Given the description of an element on the screen output the (x, y) to click on. 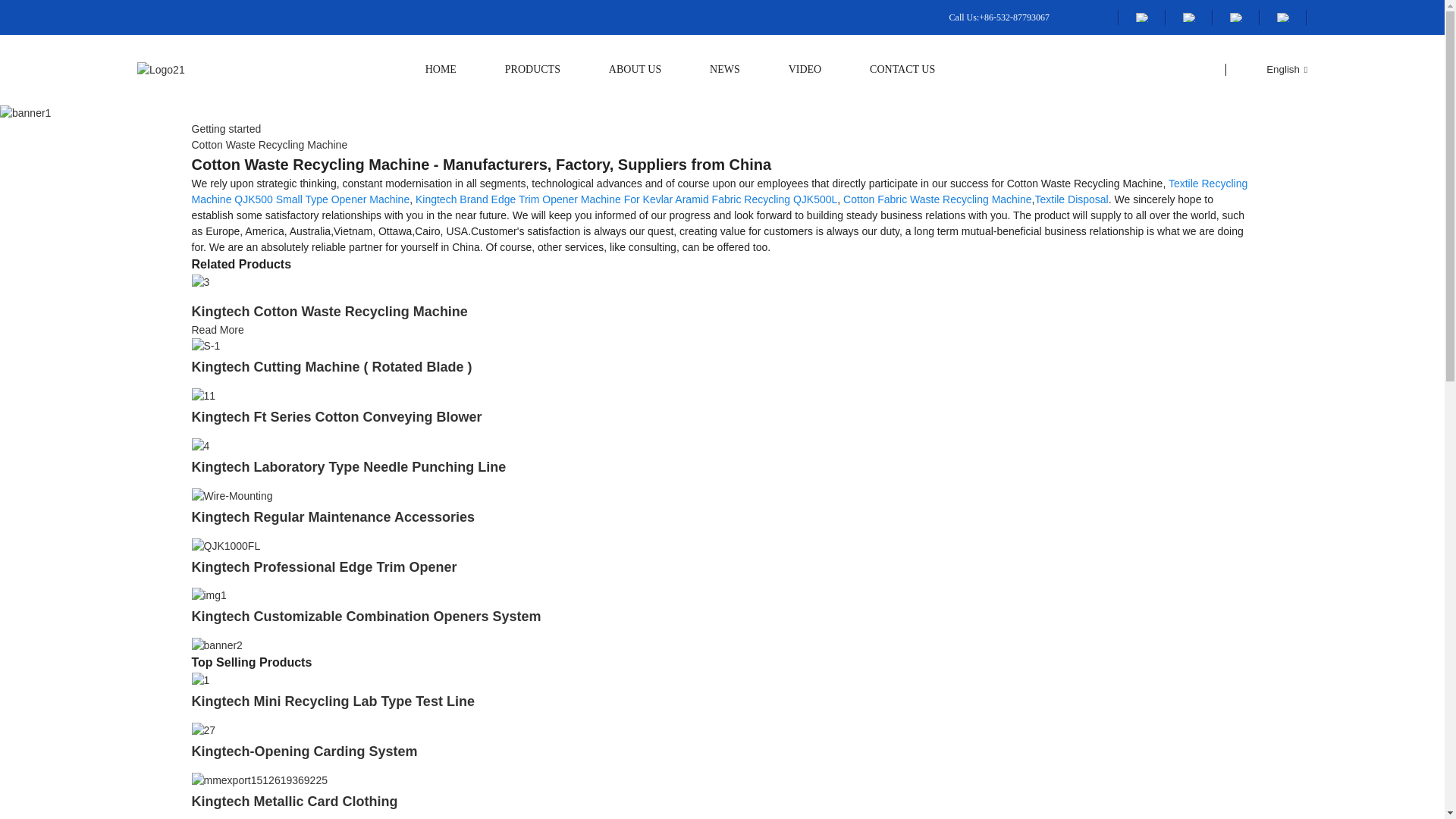
HOME (441, 69)
Cotton Fabric Waste Recycling Machine (936, 199)
Kingtech Ft Series Cotton Conveying Blower (335, 417)
Cotton Fabric Waste Recycling Machine (936, 199)
Read More (216, 329)
Kingtech Cotton Waste Recycling Machine (328, 311)
Kingtech Laboratory Type Needle Punching Line (199, 444)
Textile Disposal (1070, 199)
Textile Recycling Machine QJK500 Small Type Opener Machine (718, 191)
